Given the description of an element on the screen output the (x, y) to click on. 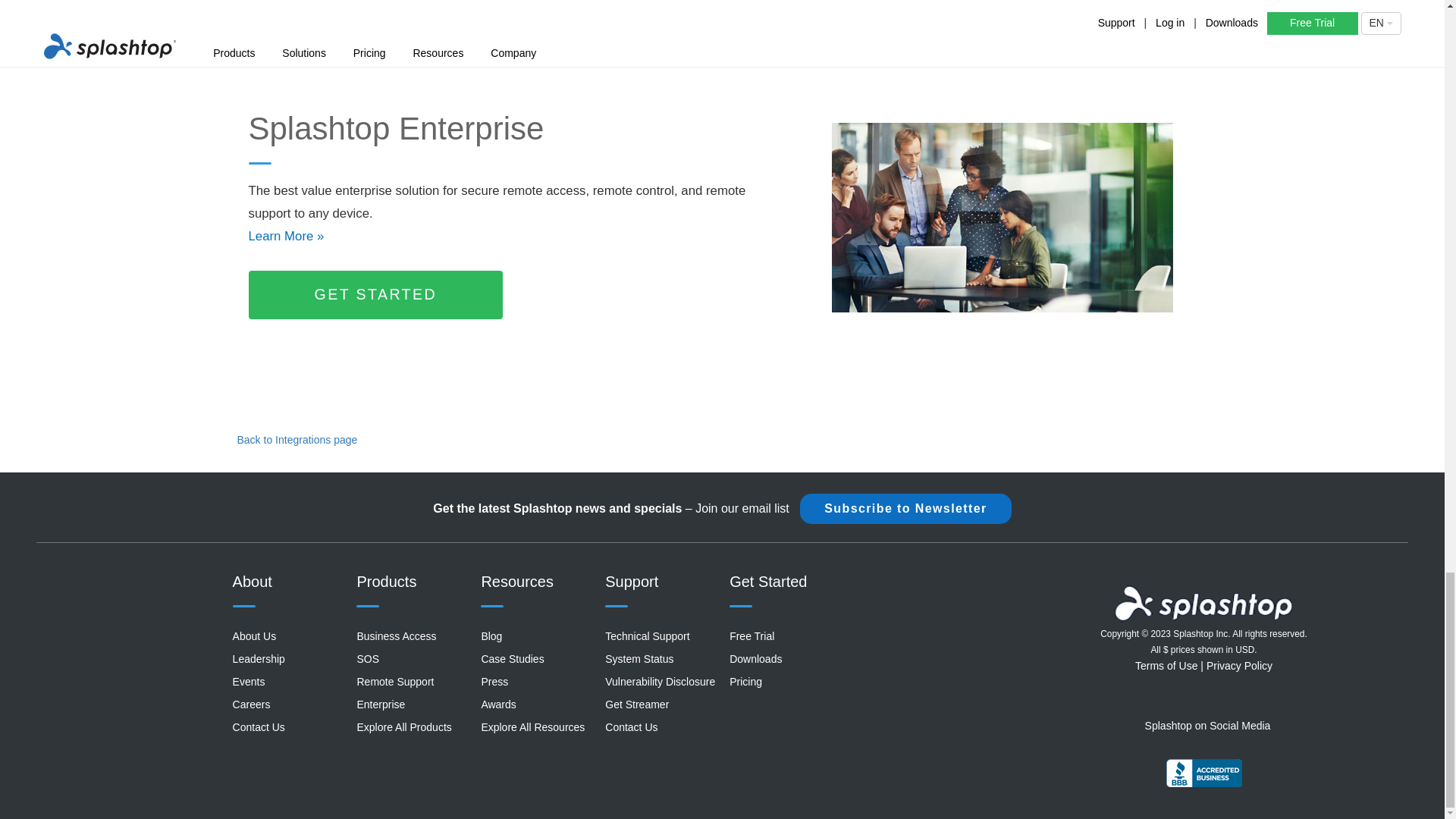
Splashtop Enterprise (1002, 217)
twitter.com (1235, 701)
Splashtop Inc., Mobile Apps, San Jose, CA (1203, 772)
youtube.com (1205, 701)
linkedin.com (1177, 701)
instagram.com (1264, 701)
www.facebook.com (1148, 701)
